Given the description of an element on the screen output the (x, y) to click on. 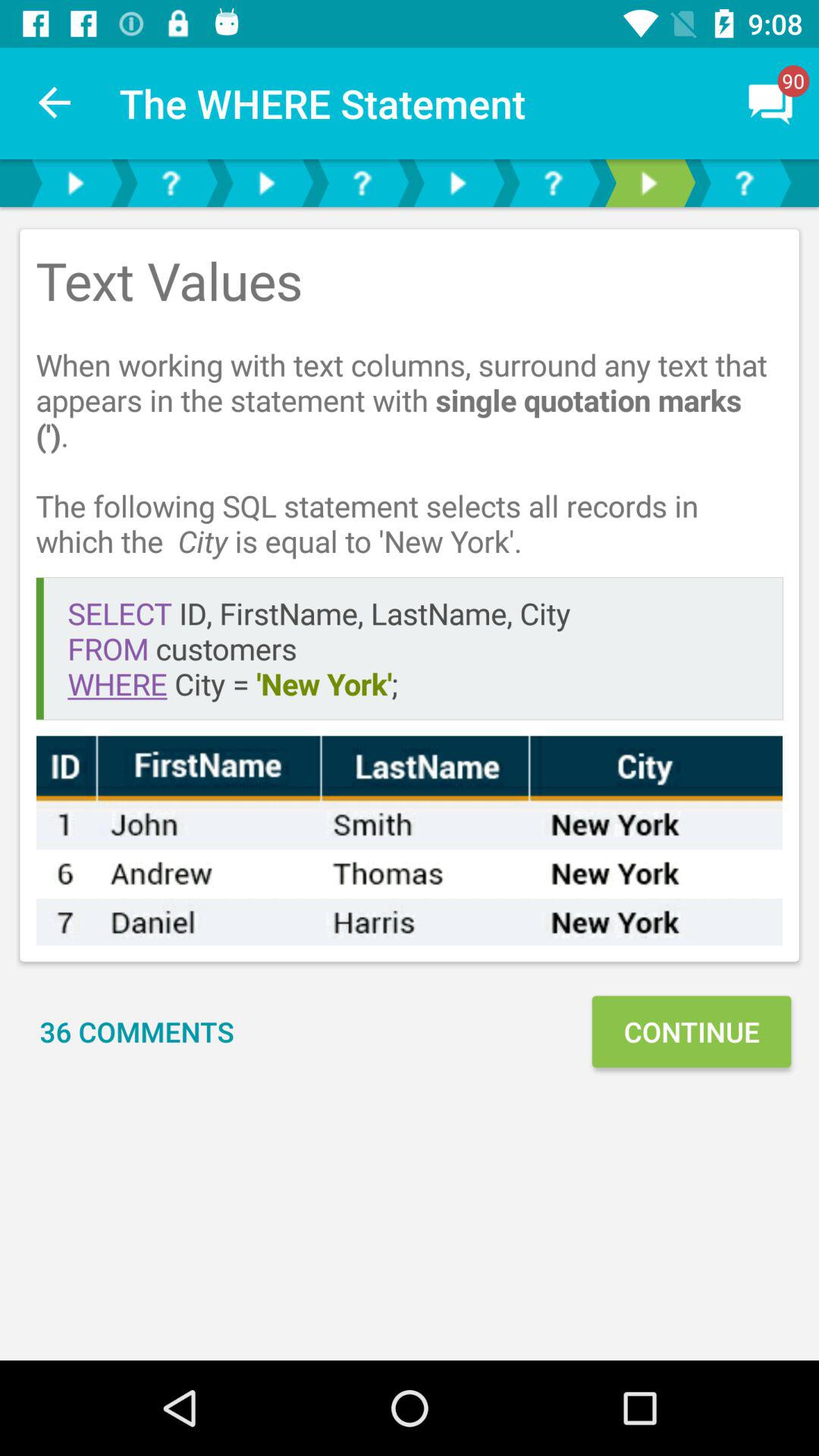
go to play (265, 183)
